Given the description of an element on the screen output the (x, y) to click on. 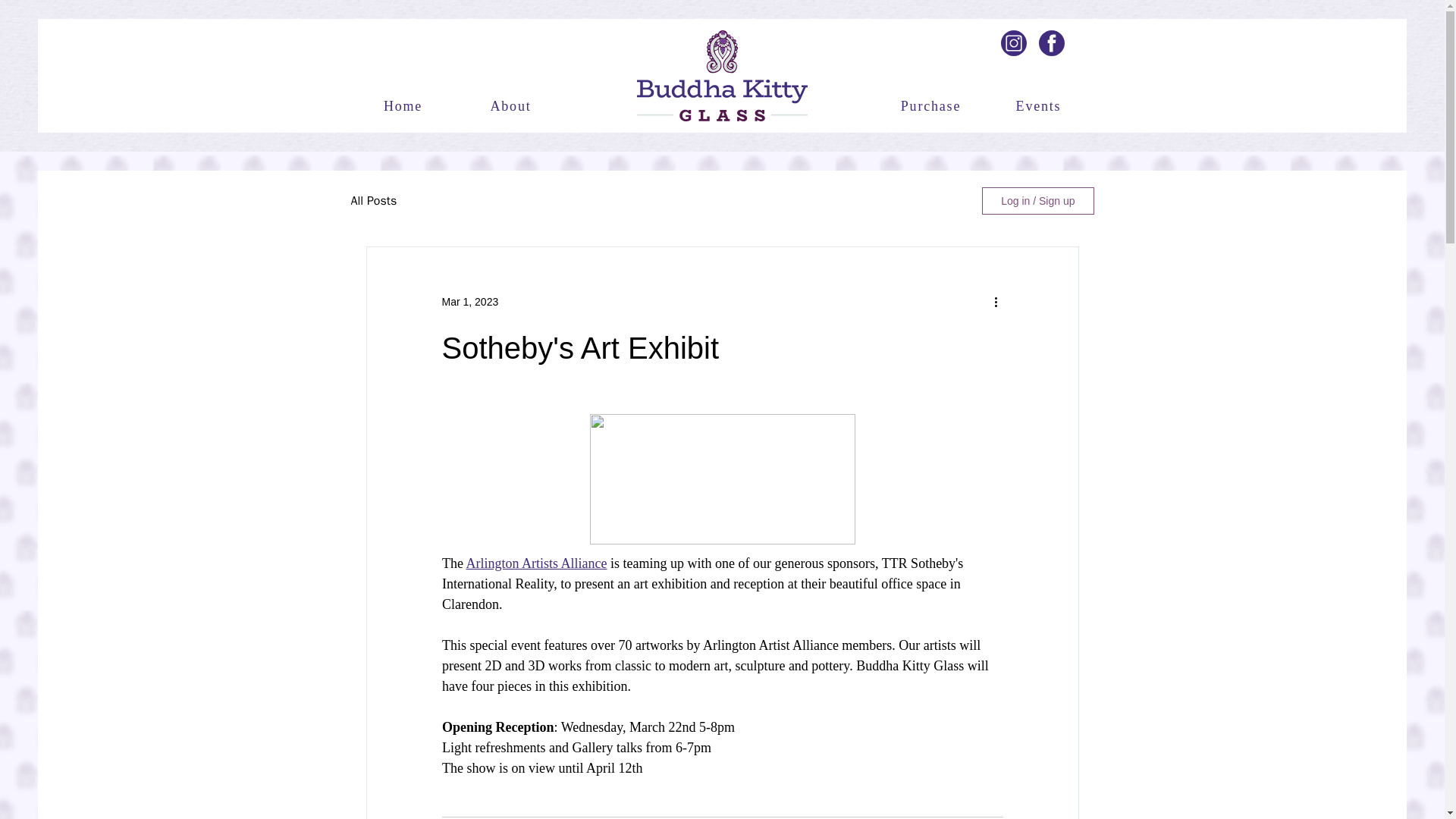
Purchase (931, 105)
Mar 1, 2023 (469, 301)
Home (404, 105)
Events (1039, 105)
Arlington Artists Alliance (536, 563)
All Posts (373, 200)
About (512, 105)
